Given the description of an element on the screen output the (x, y) to click on. 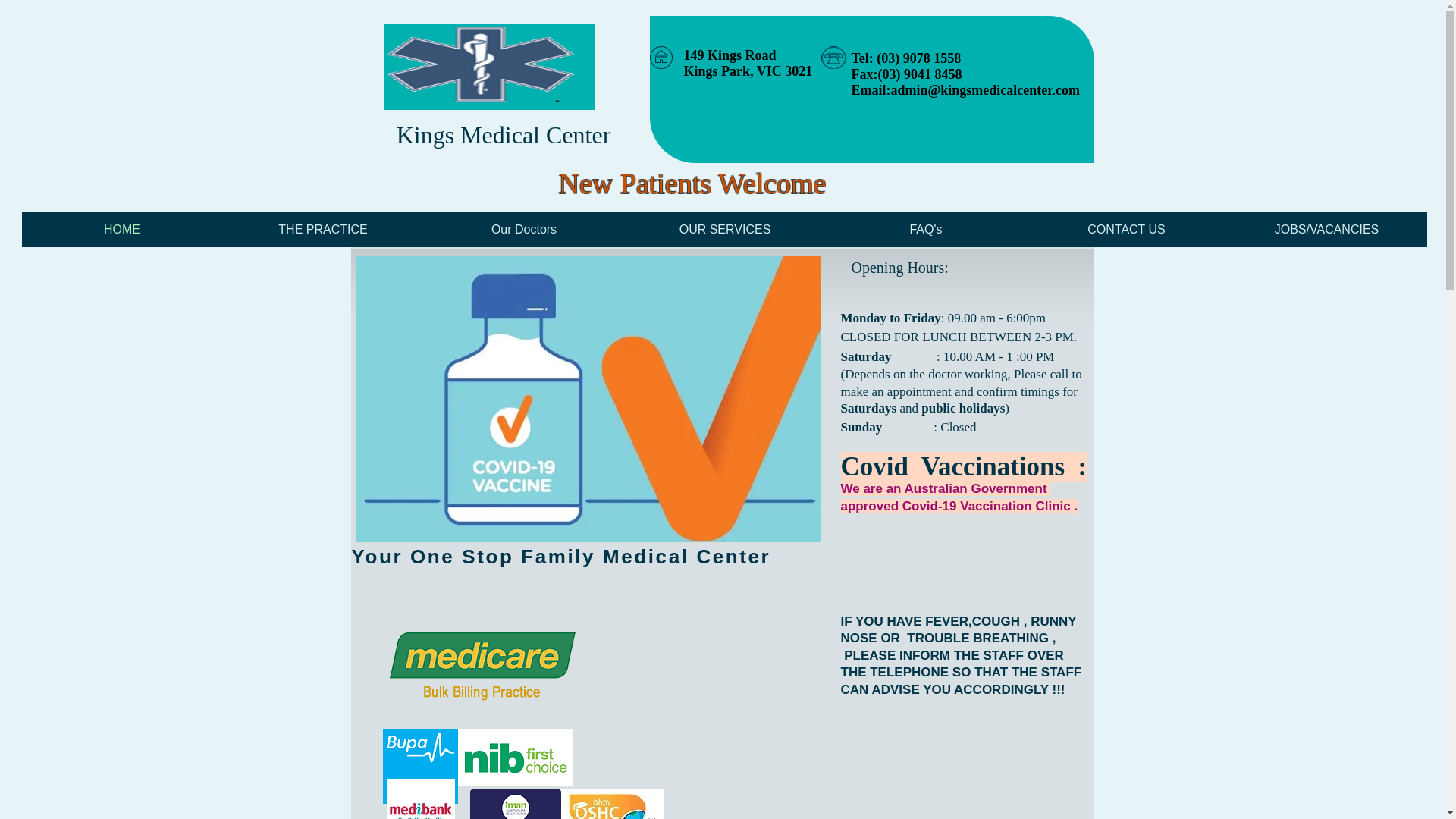
THE PRACTICE (322, 229)
FAQ's (925, 229)
HOME (121, 229)
OUR SERVICES (724, 229)
CONTACT US (1126, 229)
Our Doctors (523, 229)
